Given the description of an element on the screen output the (x, y) to click on. 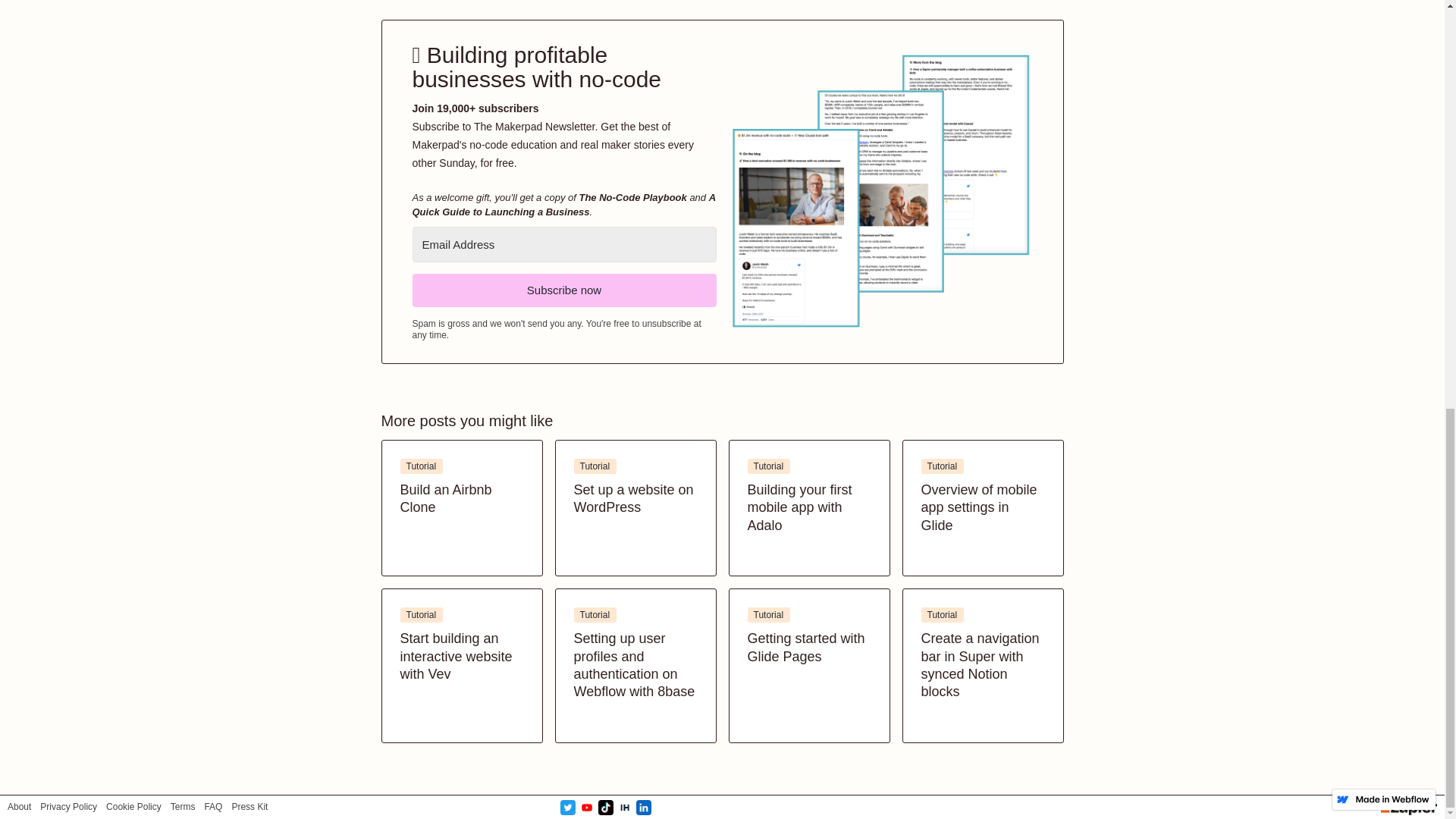
Subscribe now (635, 507)
